Given the description of an element on the screen output the (x, y) to click on. 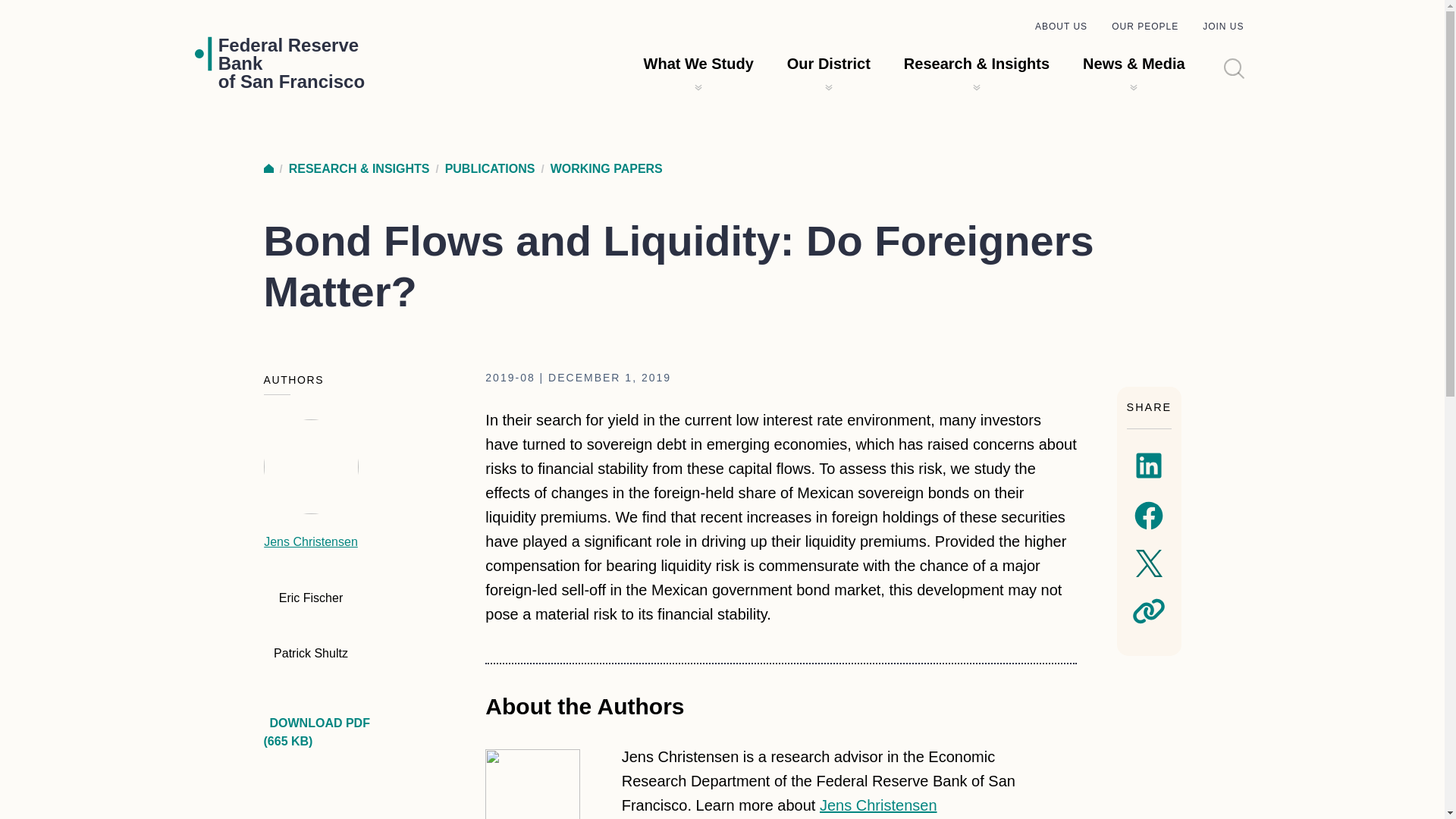
OUR PEOPLE (1144, 26)
HOME (268, 167)
JOIN US (1222, 26)
What We Study (698, 63)
Our District (828, 63)
ABOUT US (1061, 26)
